Given the description of an element on the screen output the (x, y) to click on. 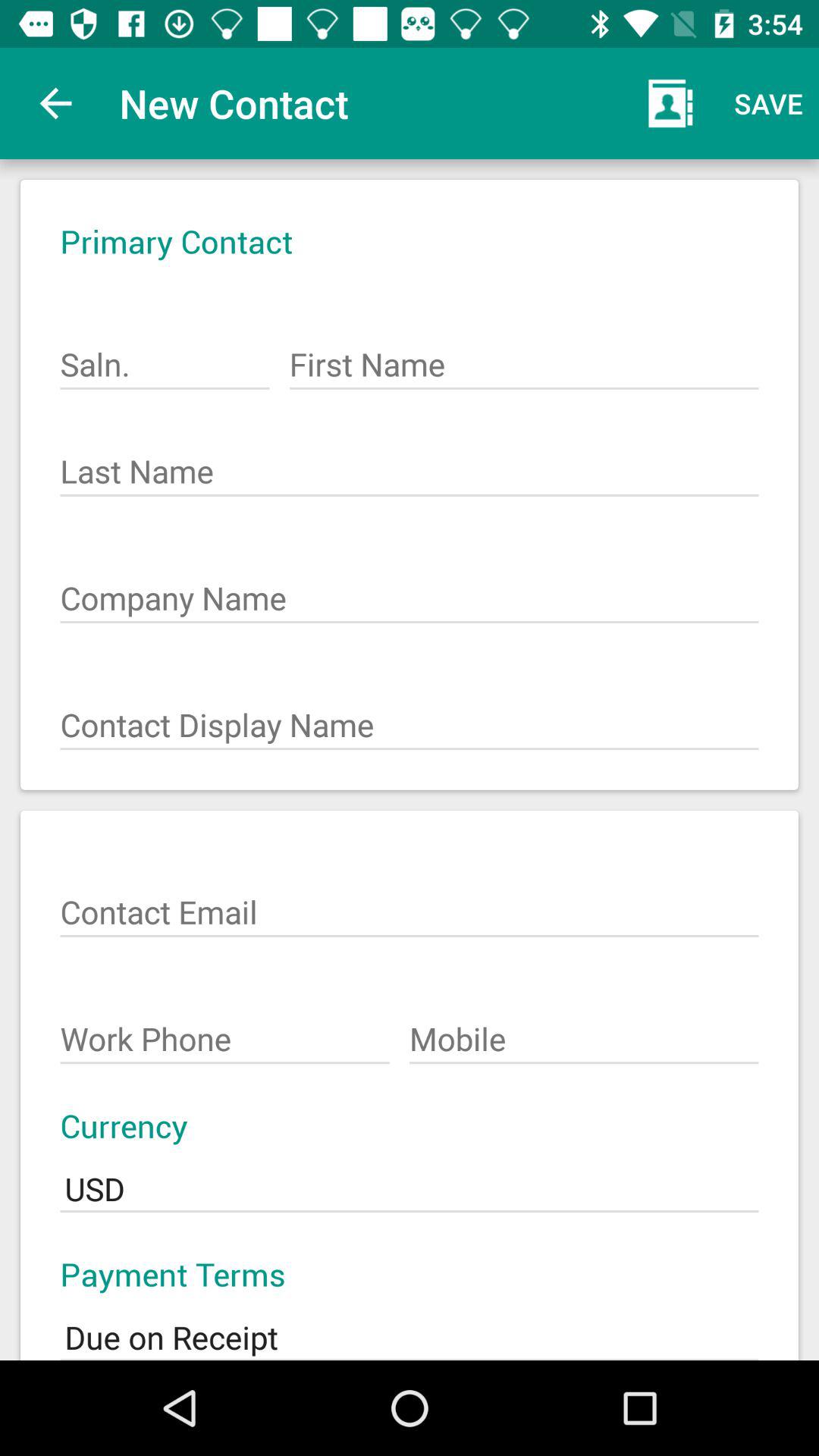
press icon to the left of new contact item (55, 103)
